Given the description of an element on the screen output the (x, y) to click on. 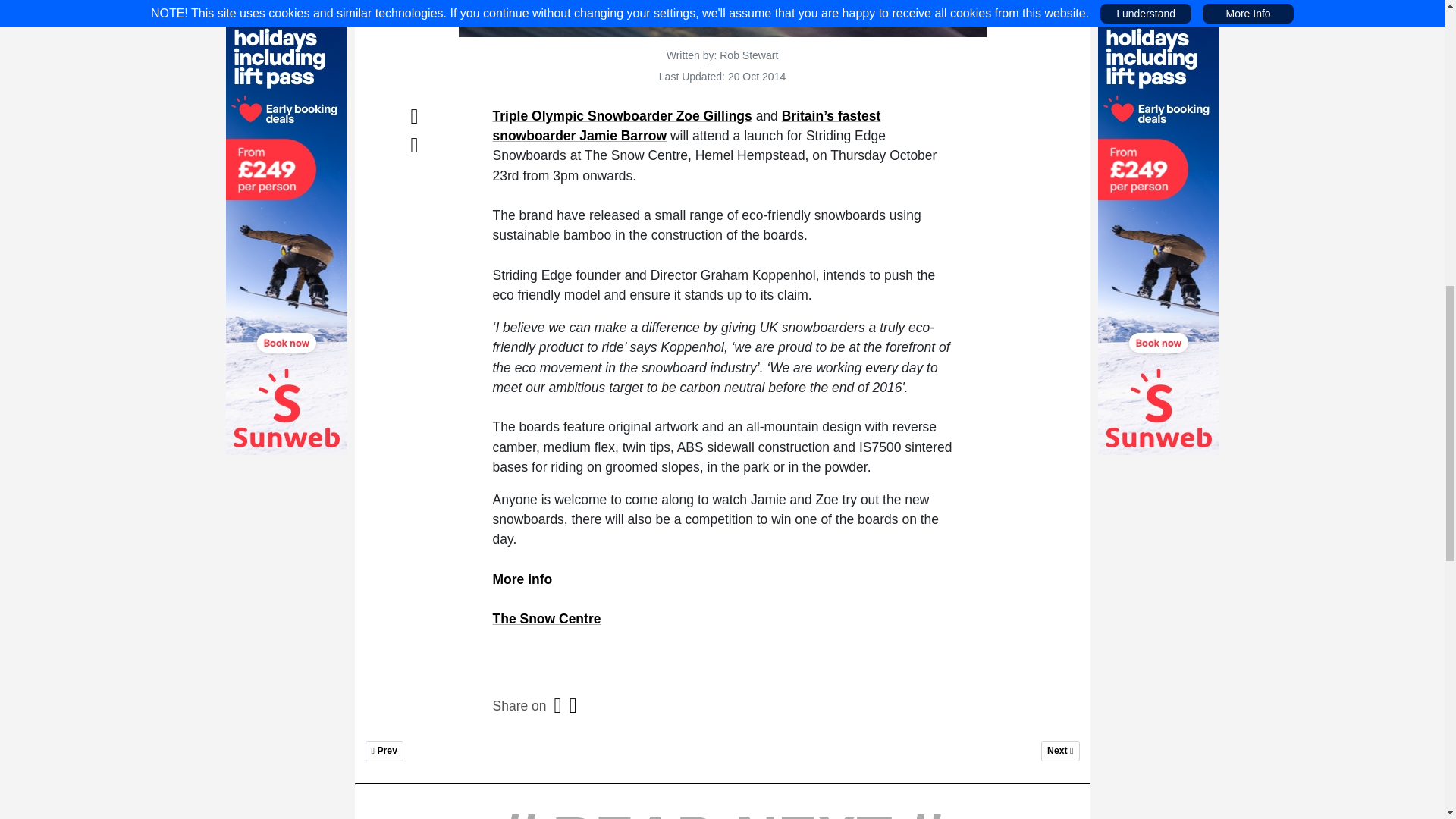
Triple Olympic Snowboarder Zoe Gillings (622, 115)
The Snow Centre (384, 751)
More info (547, 618)
